Given the description of an element on the screen output the (x, y) to click on. 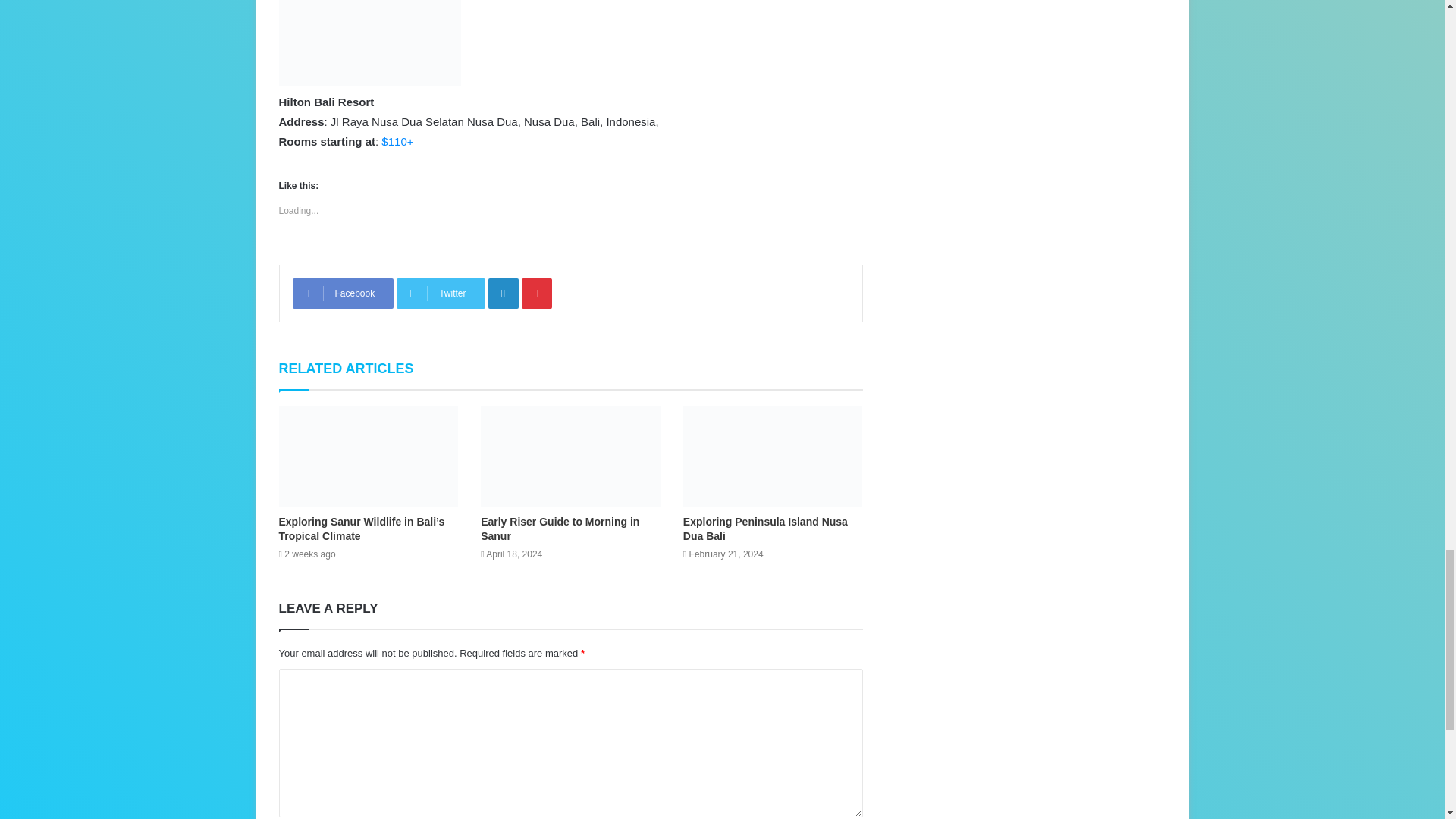
Exploring Peninsula Island Nusa Dua Bali (764, 528)
Facebook (343, 293)
Exploring Peninsula Island Nusa Dua Bali (772, 455)
Pinterest (536, 293)
Early Riser Guide to Morning in Sanur (570, 455)
Exploring Peninsula Island Nusa Dua Bali (764, 528)
Early Riser Guide to Morning in Sanur (559, 528)
Twitter (440, 293)
Click to Book (397, 141)
LinkedIn (502, 293)
